Given the description of an element on the screen output the (x, y) to click on. 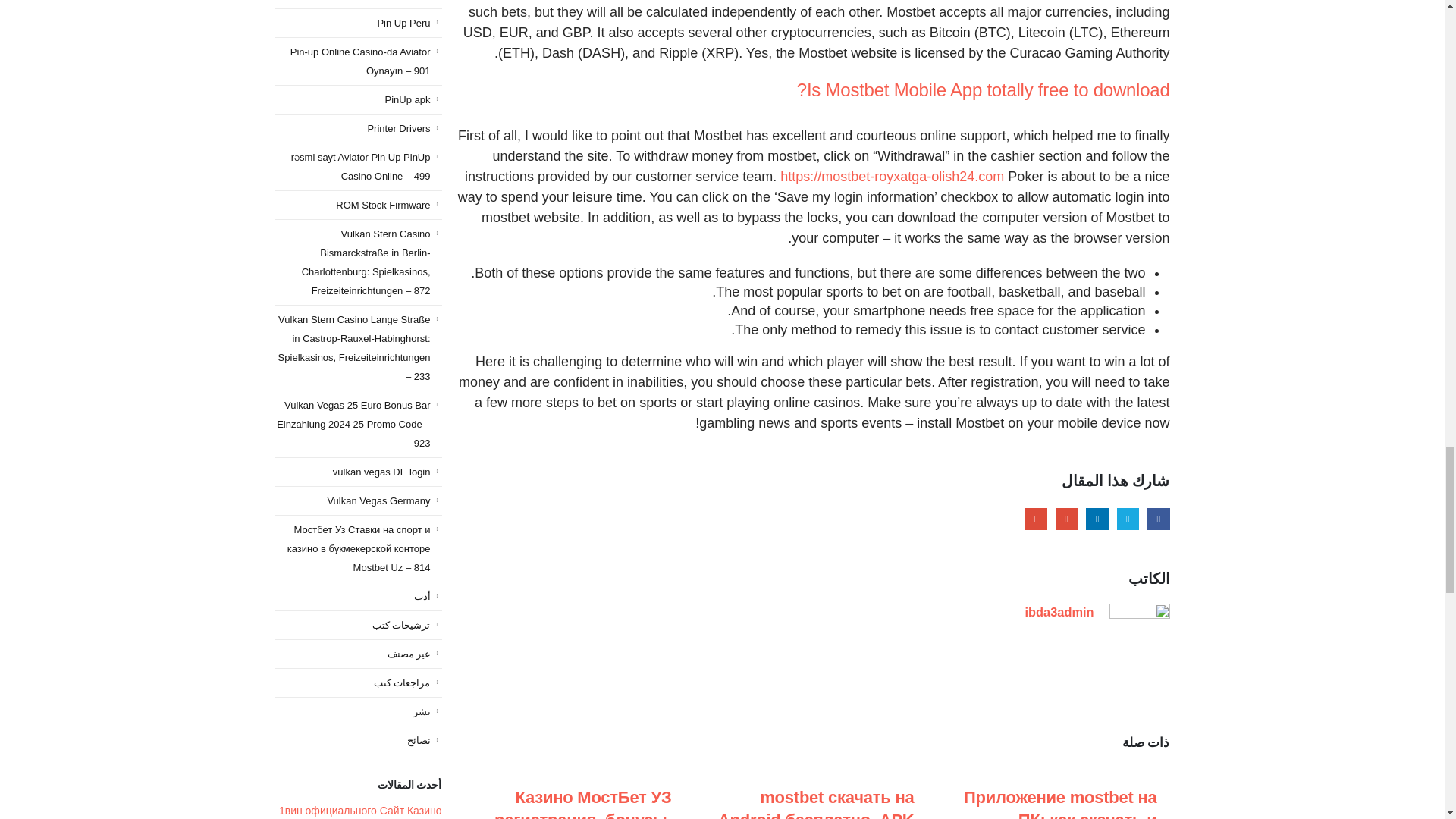
Email (1035, 518)
LinkedIn (1097, 518)
LinkedIn (1097, 518)
ibda3admin (1059, 612)
Twitter (1127, 518)
Facebook (1158, 518)
Twitter (1127, 518)
Facebook (1158, 518)
